Given the description of an element on the screen output the (x, y) to click on. 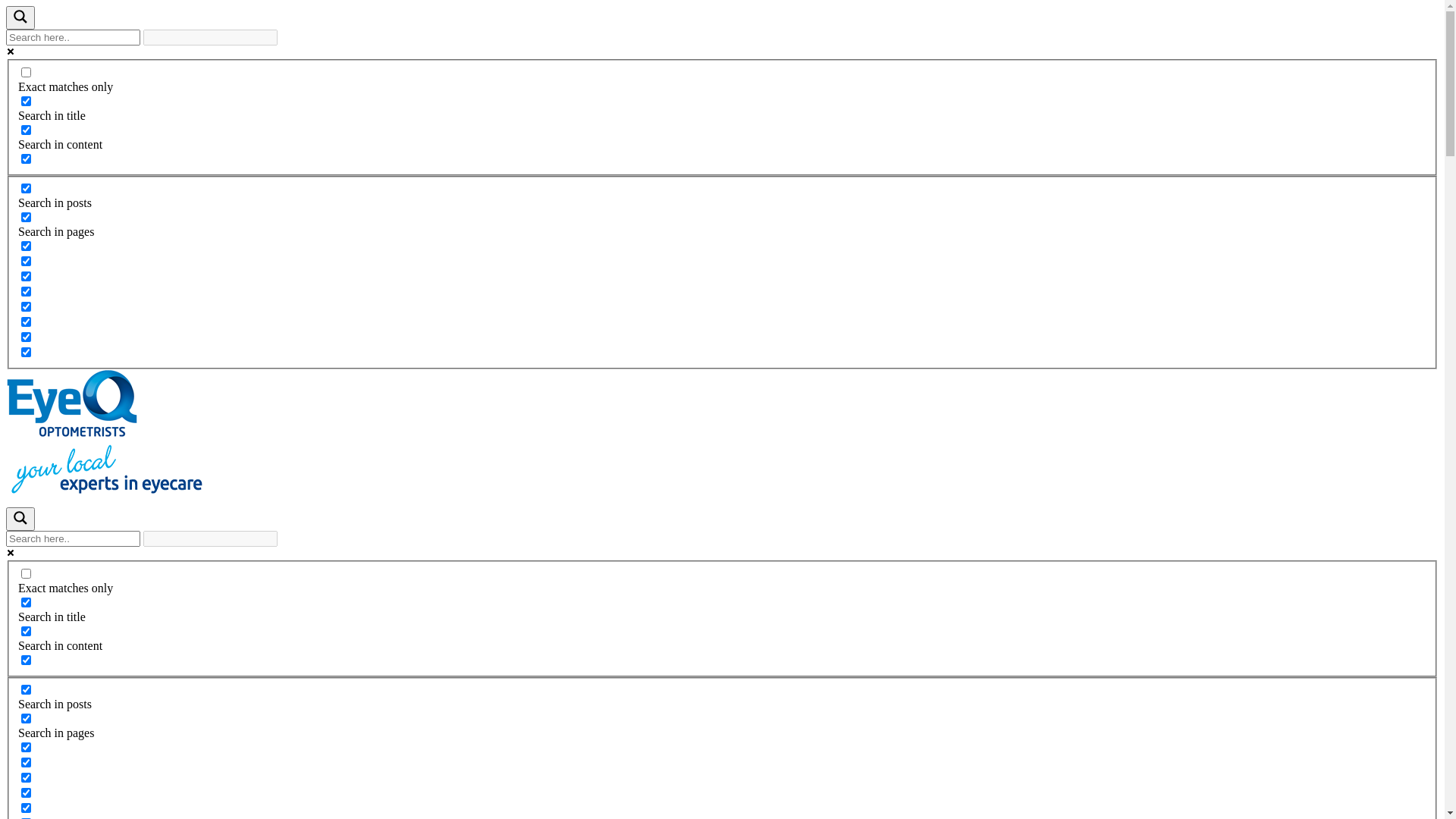
EyeQ Optometrists Element type: hover (72, 404)
Start search Element type: text (286, 31)
Start search Element type: text (286, 532)
